Given the description of an element on the screen output the (x, y) to click on. 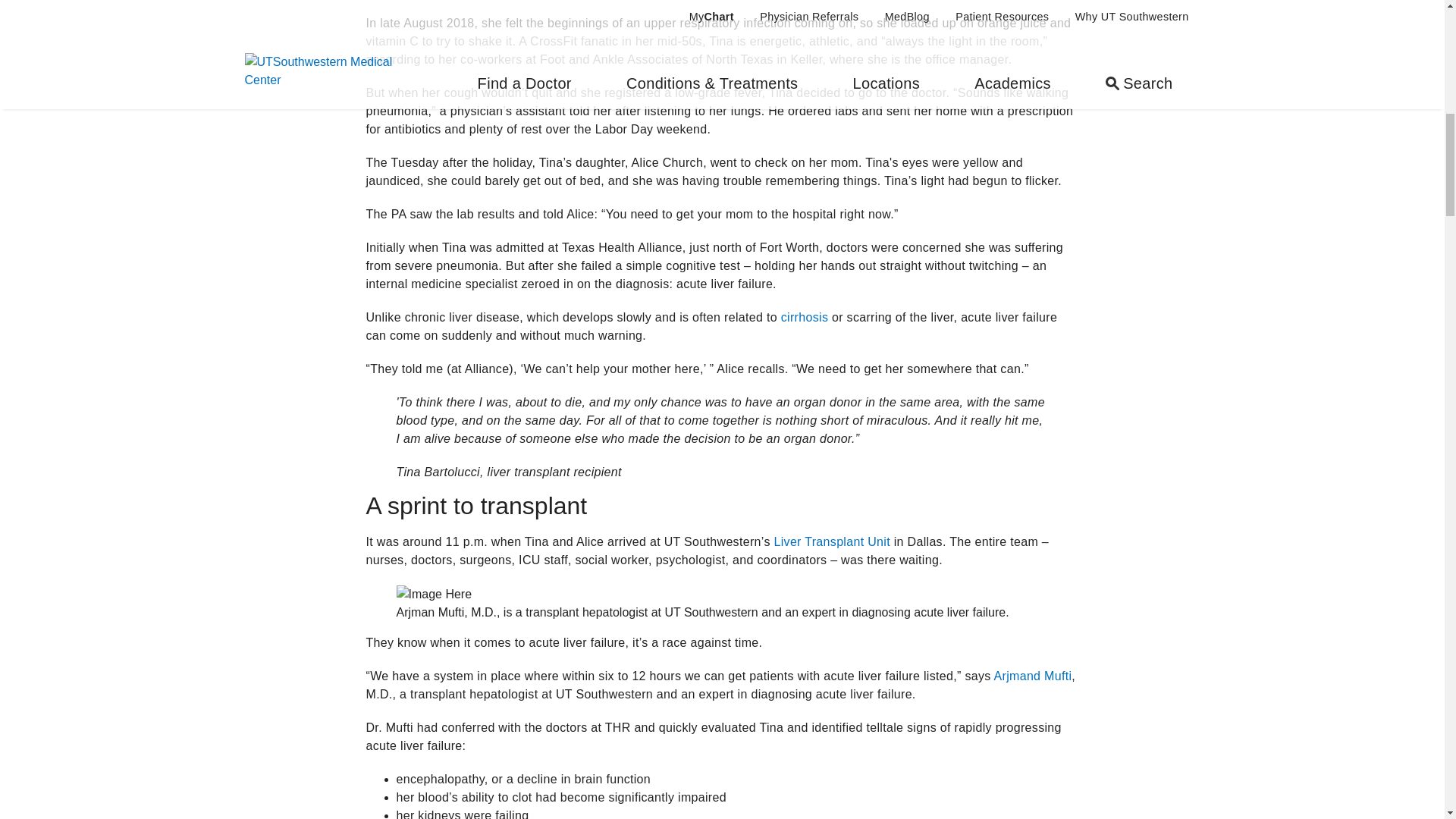
Liver Transplant Unit (831, 541)
cirrhosis (804, 317)
Arjmand Mufti (1031, 675)
